Given the description of an element on the screen output the (x, y) to click on. 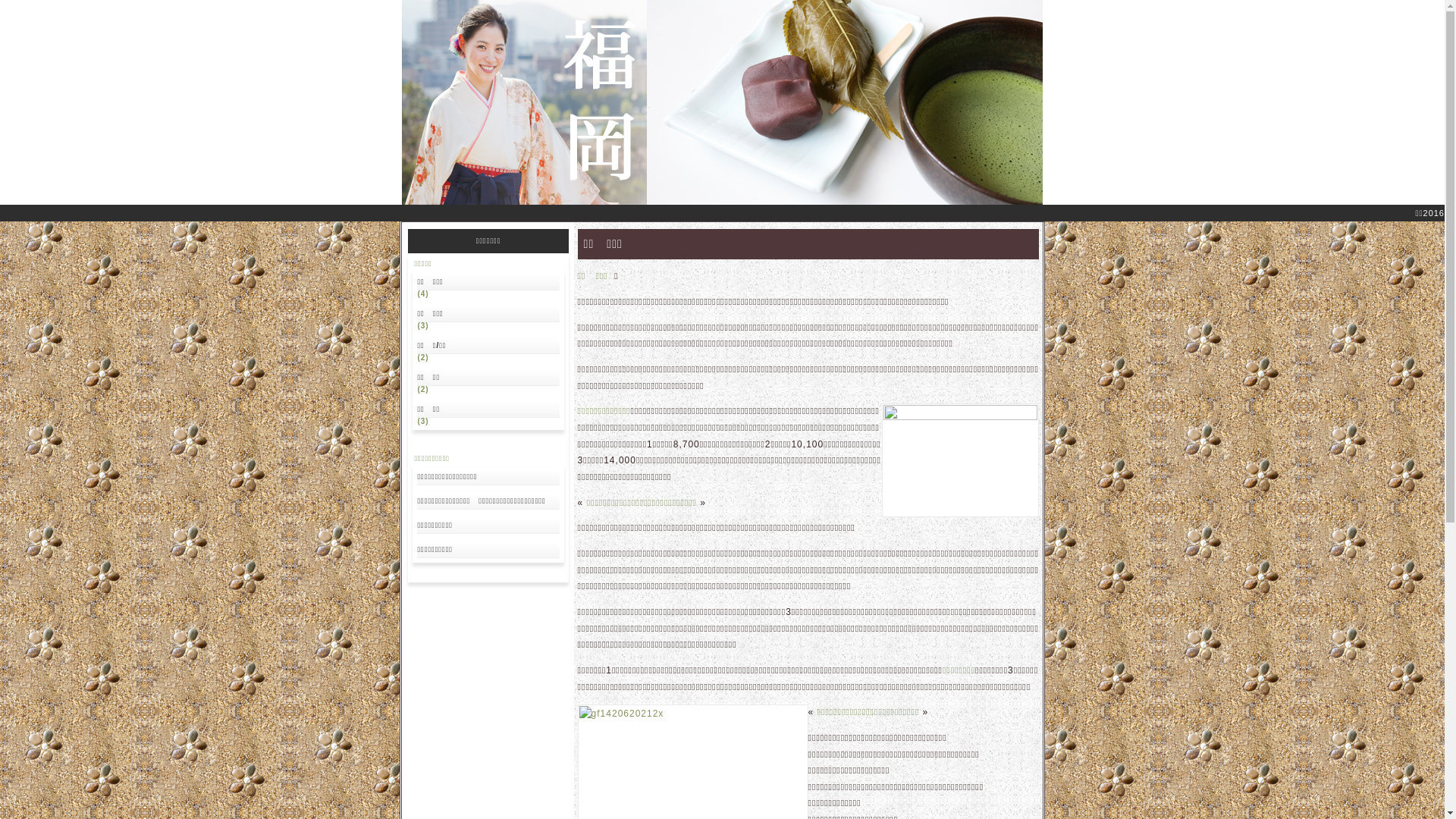
  Element type: text (728, 102)
